Given the description of an element on the screen output the (x, y) to click on. 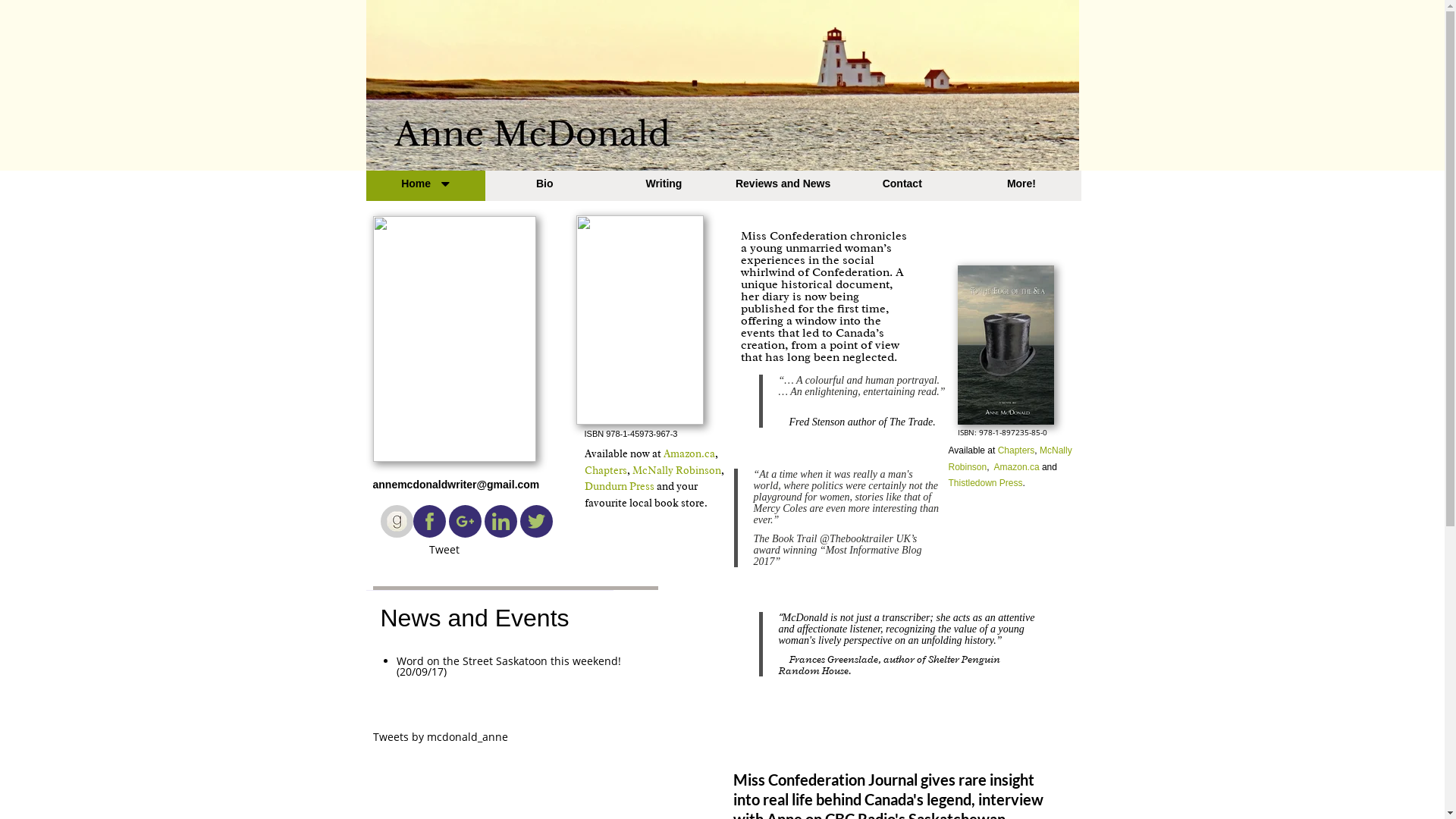
Dundurn Press Element type: text (618, 486)
Word on the Street Saskatoon this weekend! Element type: text (507, 660)
Chapters Element type: text (1016, 450)
Chapters Element type: text (604, 470)
Home Element type: text (424, 185)
More! Element type: text (1020, 185)
Writing Element type: text (663, 185)
Bio Element type: text (544, 185)
Thistledown Press. Element type: text (985, 482)
McNally Robinson Element type: text (1009, 458)
Amazon.ca Element type: text (1016, 466)
annemcdonaldwriter@gmail.com Element type: text (456, 484)
Tweet Element type: text (444, 549)
Amazon.ca Element type: text (688, 453)
Reviews and News Element type: text (782, 185)
McNally Robinson Element type: text (676, 470)
Tweets by mcdonald_anne Element type: text (440, 736)
Contact Element type: text (901, 185)
